Given the description of an element on the screen output the (x, y) to click on. 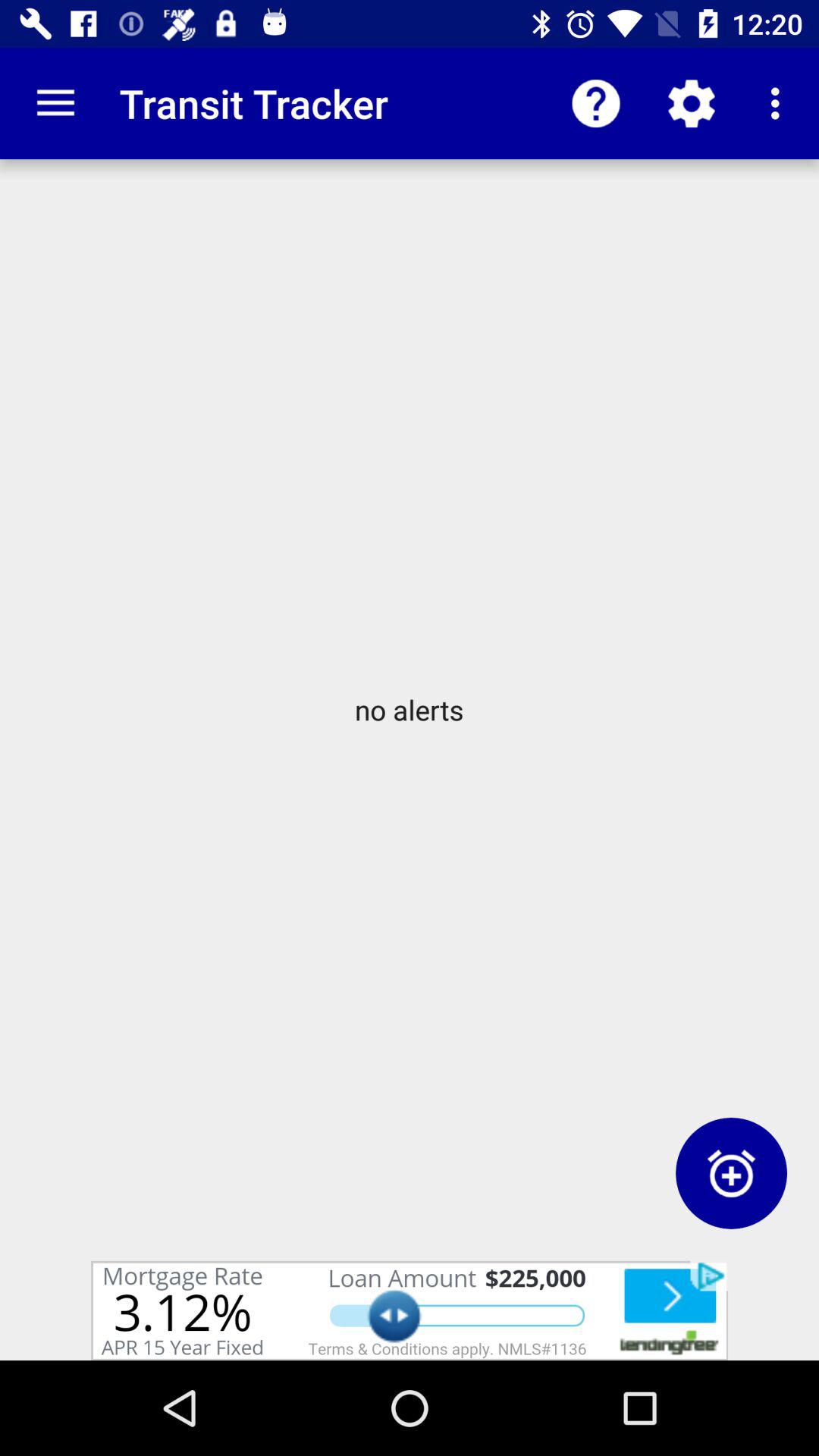
advertisement banner (409, 1310)
